Given the description of an element on the screen output the (x, y) to click on. 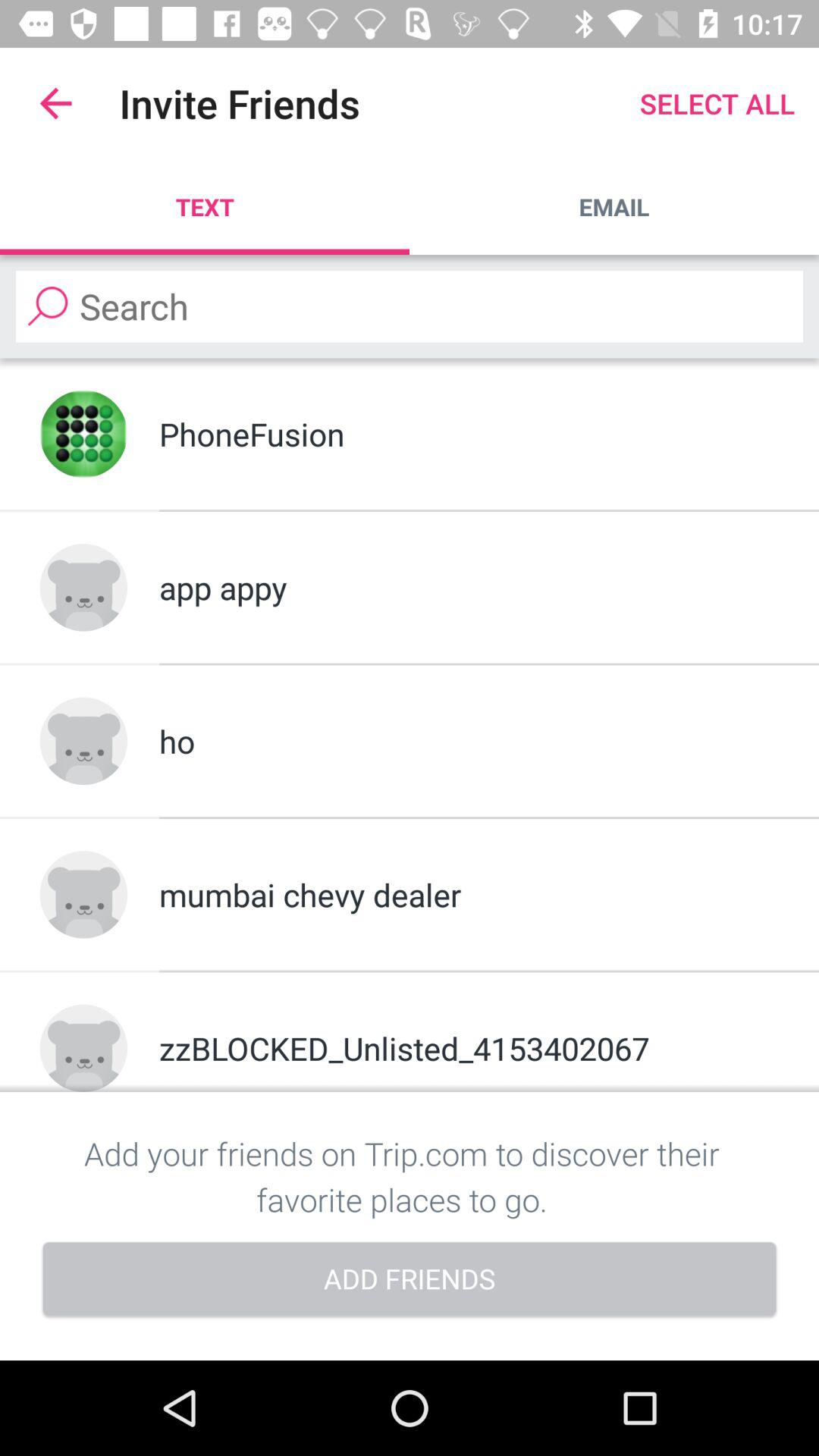
swipe to the ho (469, 740)
